Given the description of an element on the screen output the (x, y) to click on. 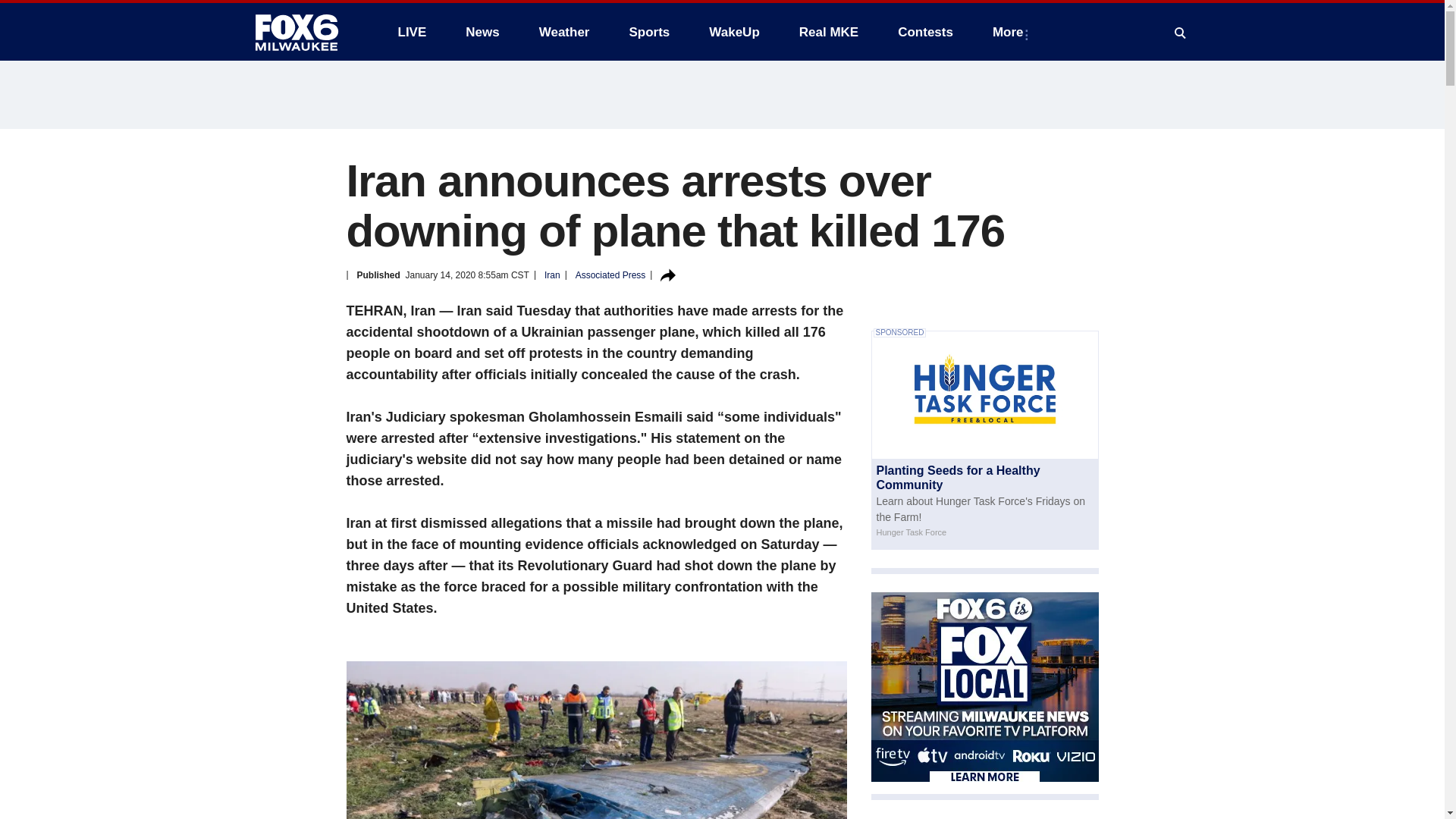
LIVE (411, 32)
News (481, 32)
Sports (648, 32)
Real MKE (828, 32)
WakeUp (734, 32)
Contests (925, 32)
Weather (564, 32)
More (1010, 32)
